Given the description of an element on the screen output the (x, y) to click on. 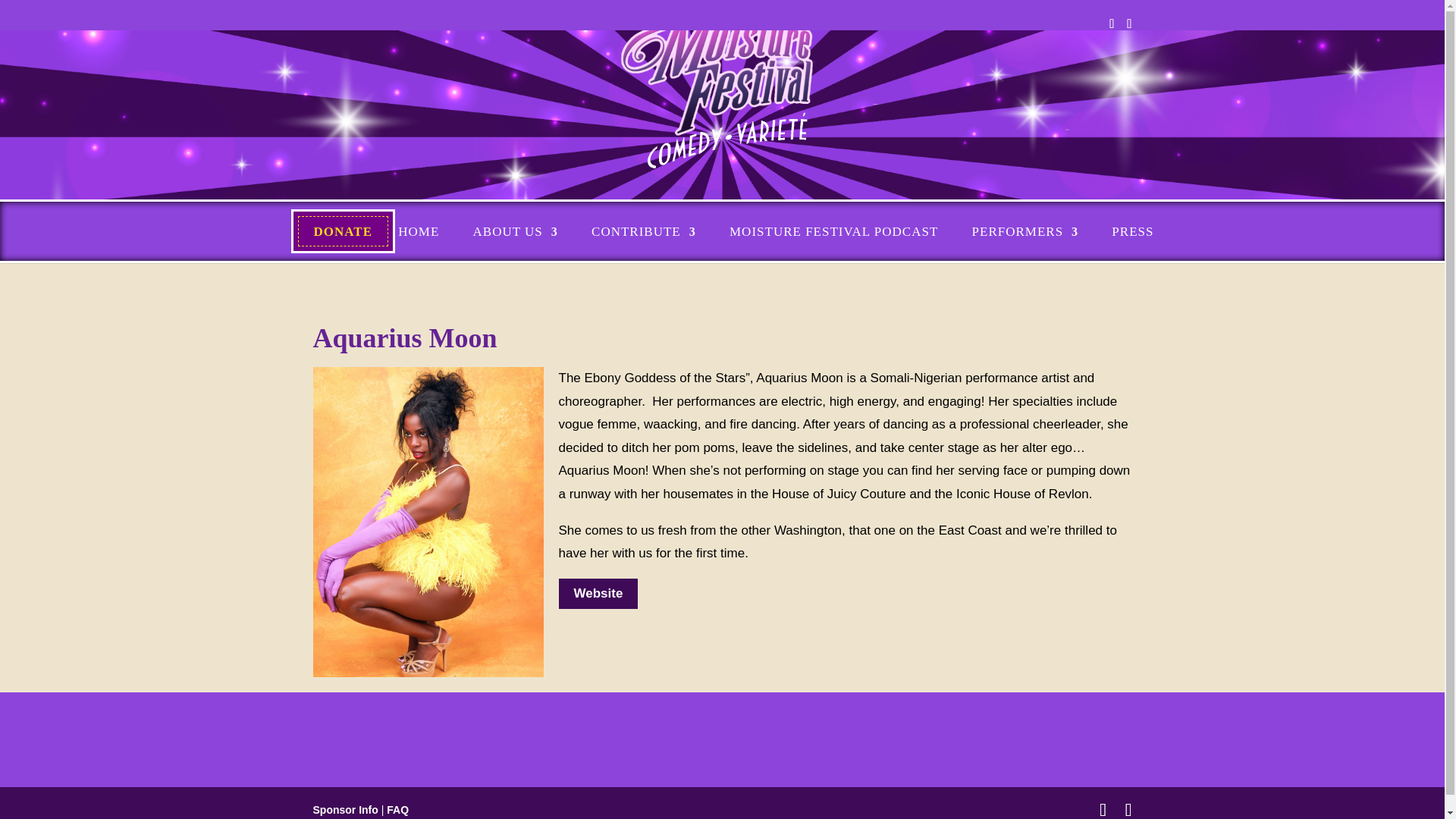
PRESS (1132, 231)
MOISTURE FESTIVAL PODCAST (833, 231)
CONTRIBUTE (643, 231)
DONATE (343, 231)
ABOUT US (515, 231)
HOME (418, 231)
PERFORMERS (1025, 231)
